Given the description of an element on the screen output the (x, y) to click on. 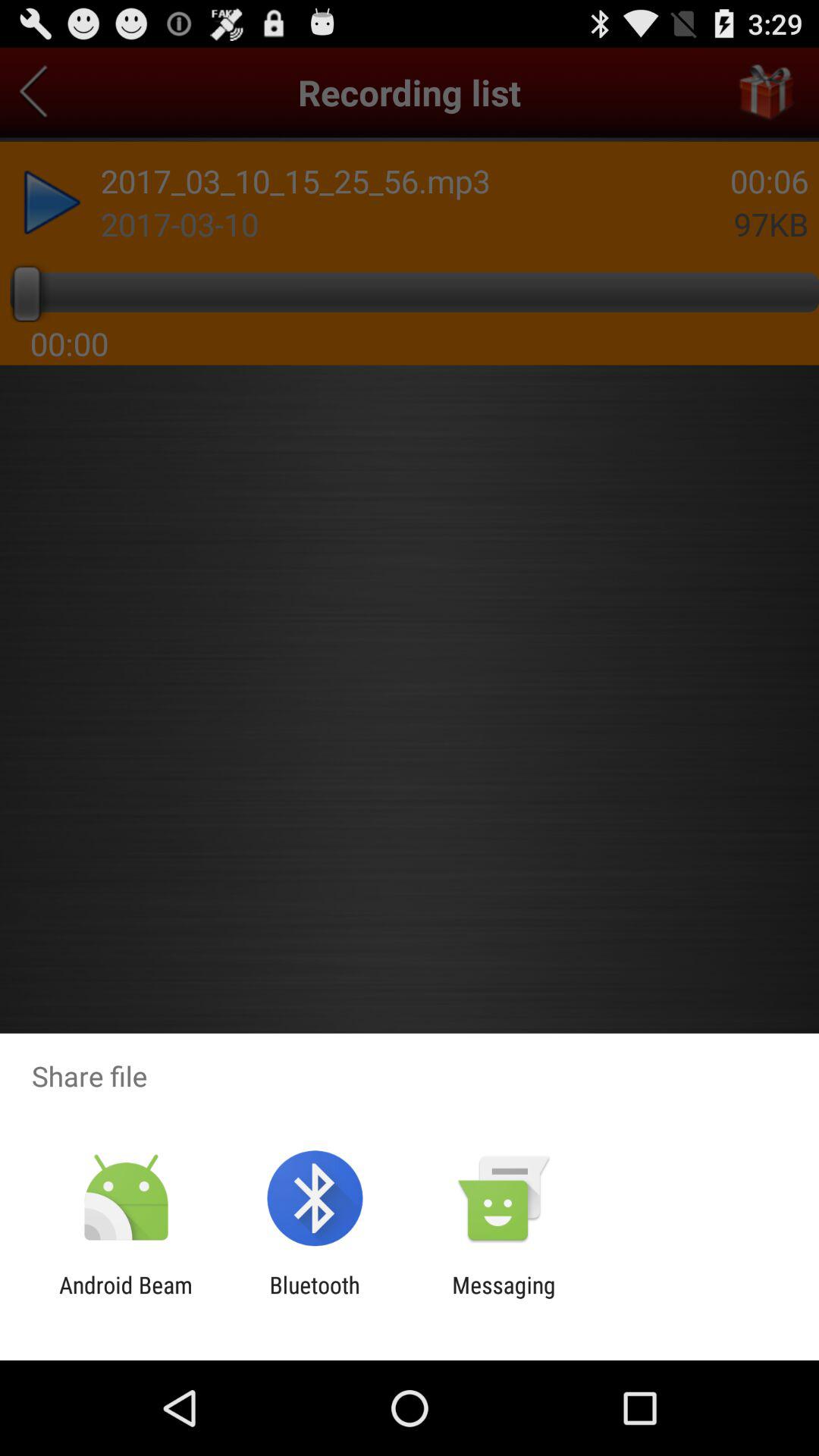
tap app to the right of bluetooth (503, 1298)
